Given the description of an element on the screen output the (x, y) to click on. 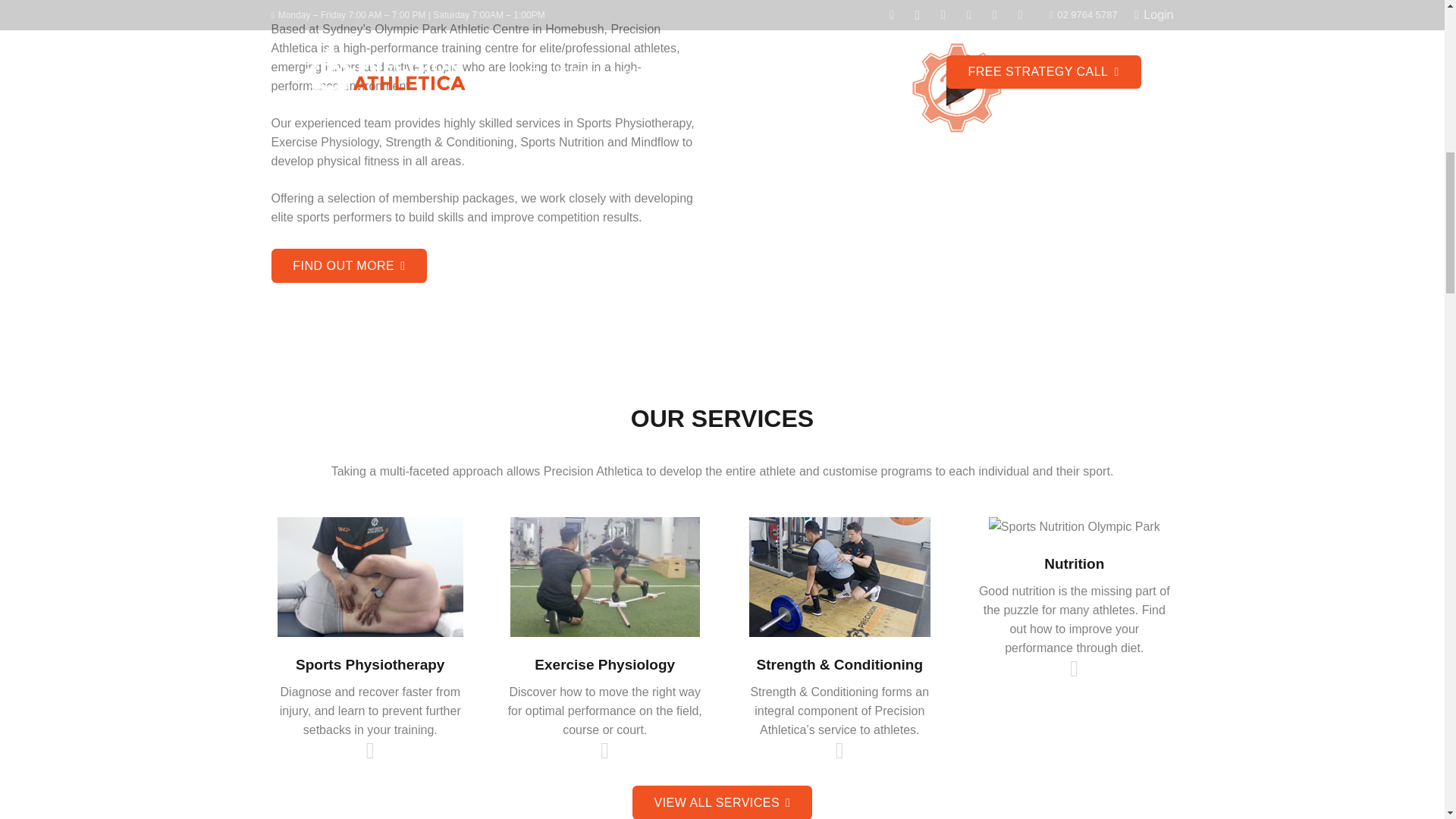
Sports Physiotherapy (370, 751)
Nutrition (1074, 669)
About (349, 265)
